Given the description of an element on the screen output the (x, y) to click on. 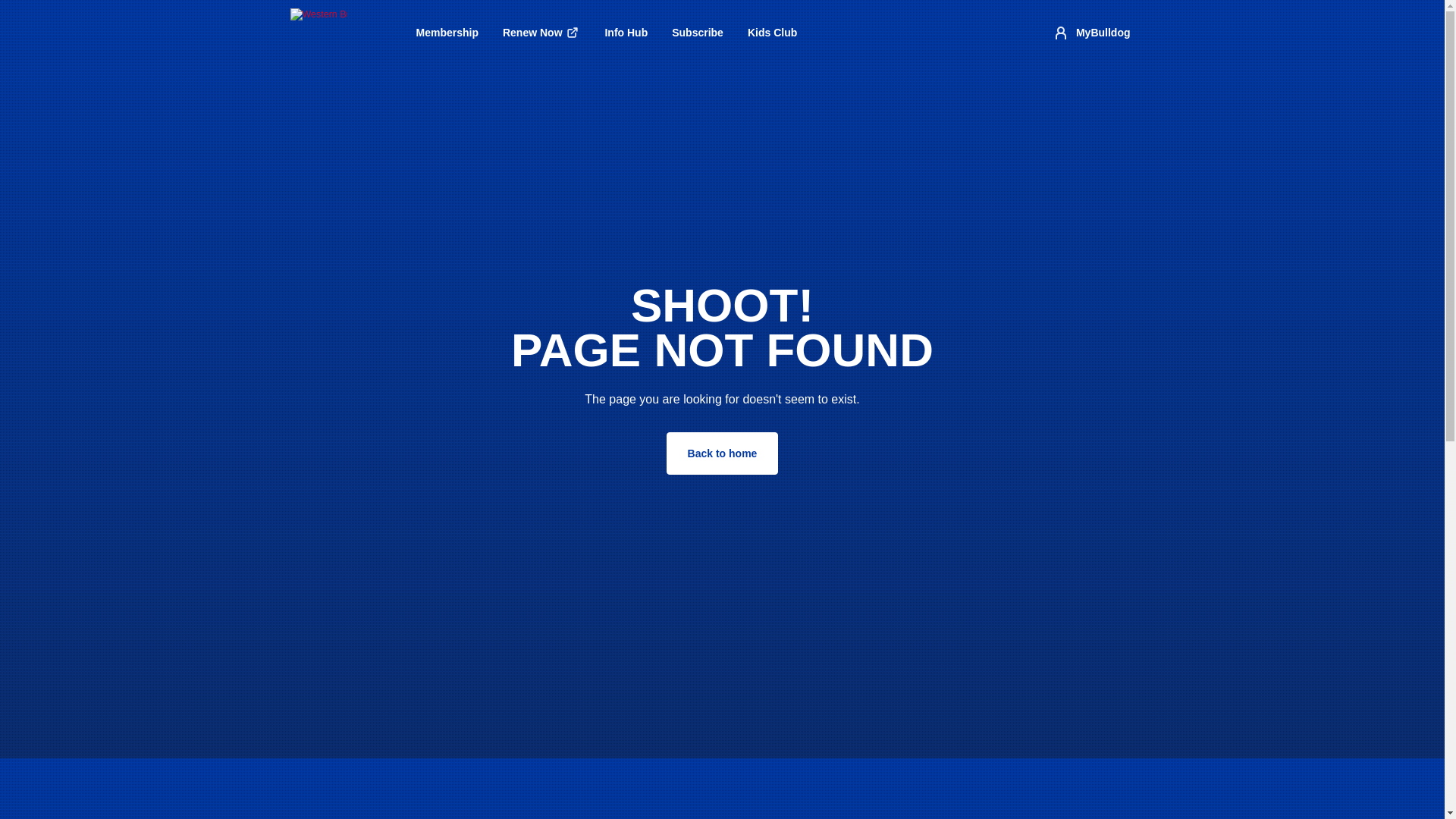
MyBulldog (1091, 33)
Membership (446, 32)
Renew Now (541, 33)
Info Hub (625, 32)
Subscribe (697, 32)
Kids Club (772, 32)
